Given the description of an element on the screen output the (x, y) to click on. 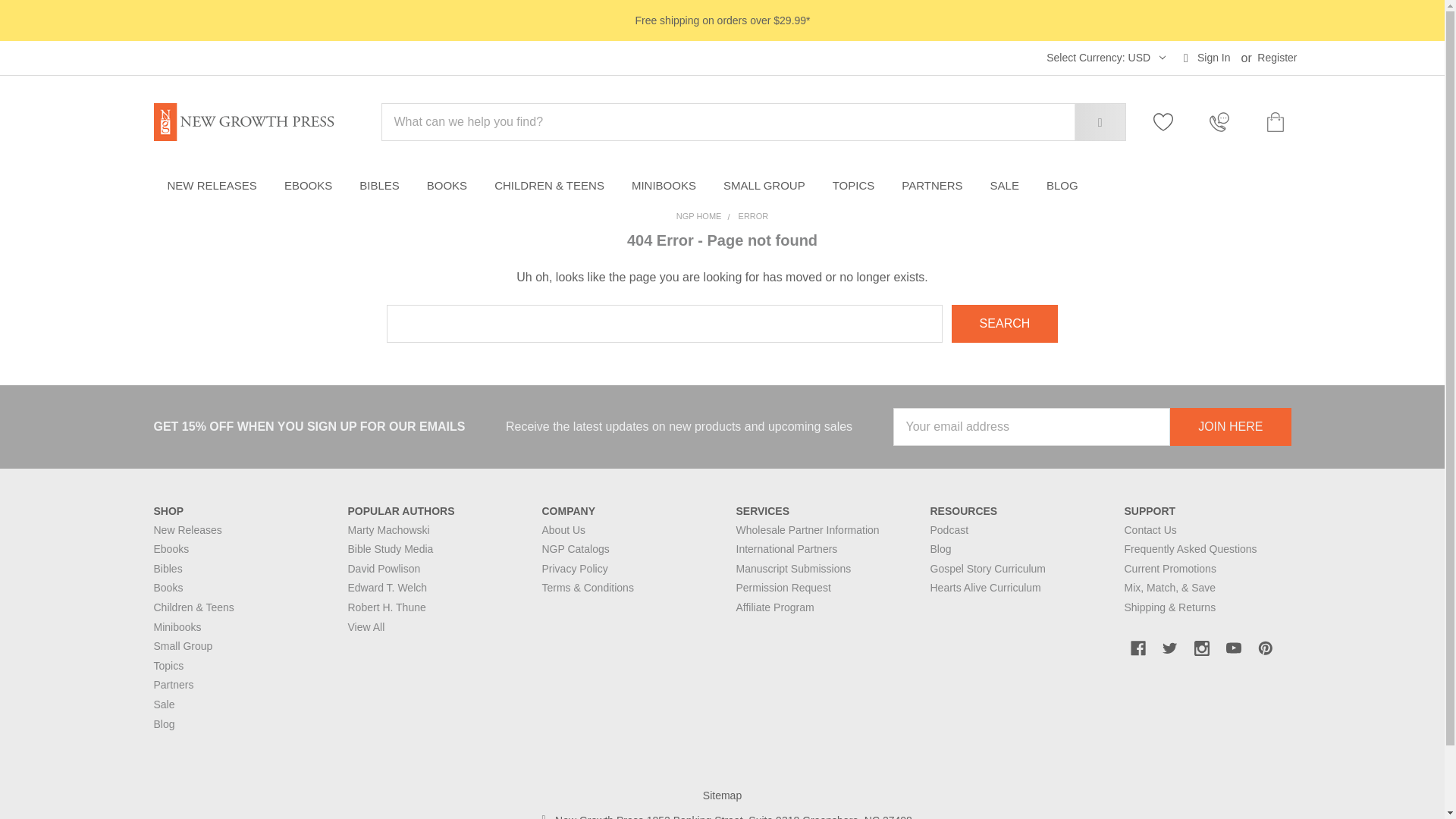
Wish Lists (1170, 121)
New Growth Press (242, 121)
Sign In (1206, 57)
Facebook (1101, 57)
Youtube (1137, 647)
Twitter (1233, 647)
Instagram (1169, 647)
EBOOKS (1201, 647)
Search (308, 185)
